Given the description of an element on the screen output the (x, y) to click on. 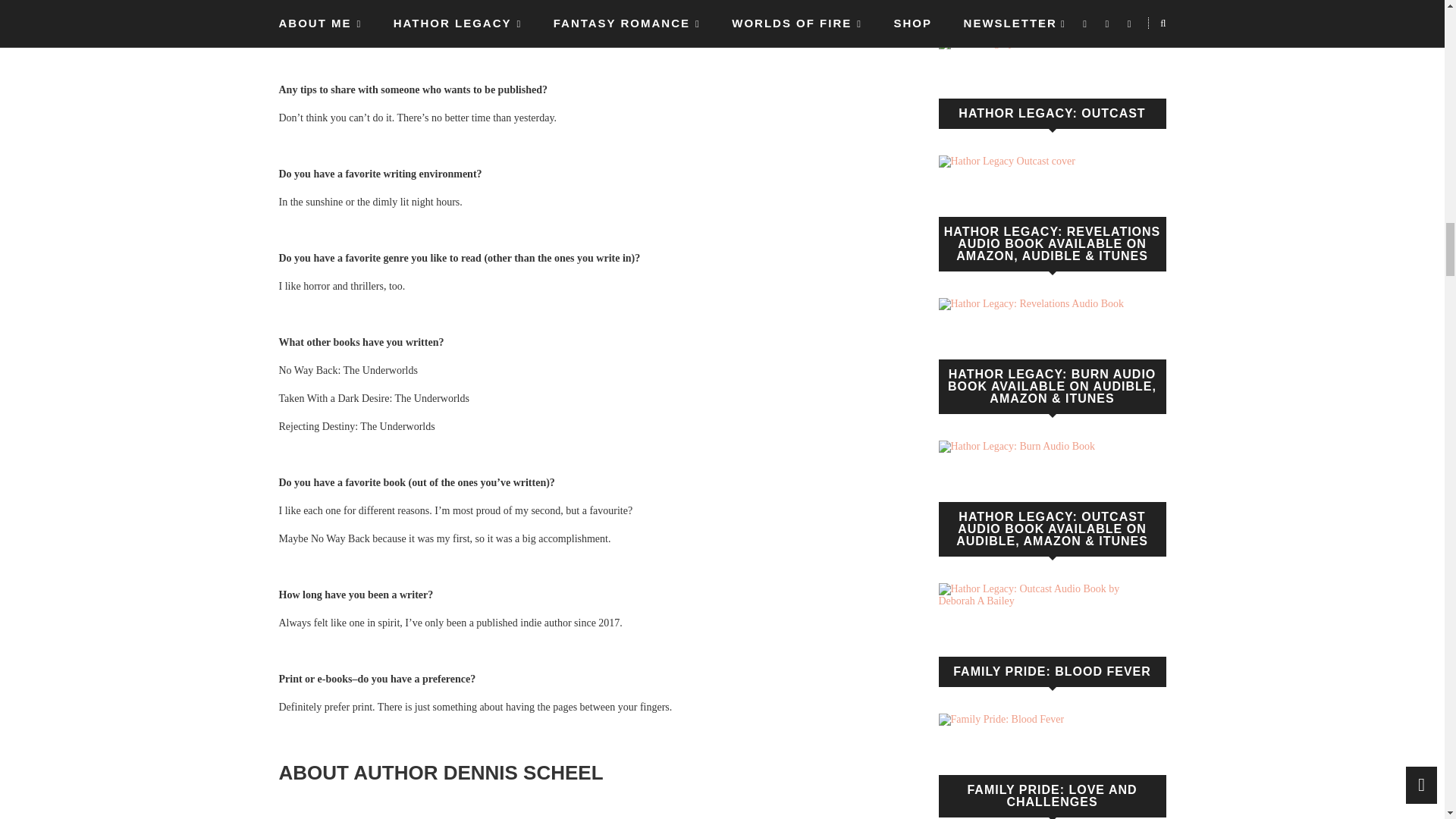
Hathor Legacy: Burn (990, 42)
